Given the description of an element on the screen output the (x, y) to click on. 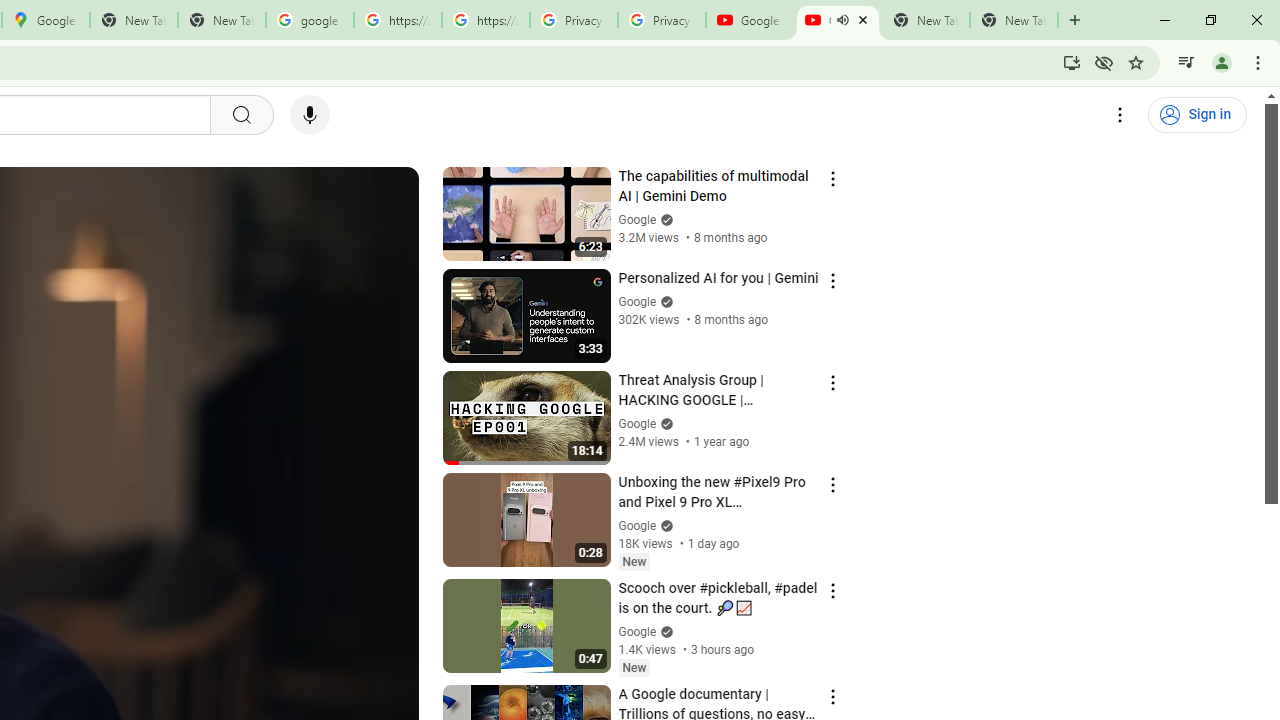
Google - YouTube (749, 20)
https://scholar.google.com/ (485, 20)
Search with your voice (309, 115)
New (634, 667)
Install YouTube (1071, 62)
